Given the description of an element on the screen output the (x, y) to click on. 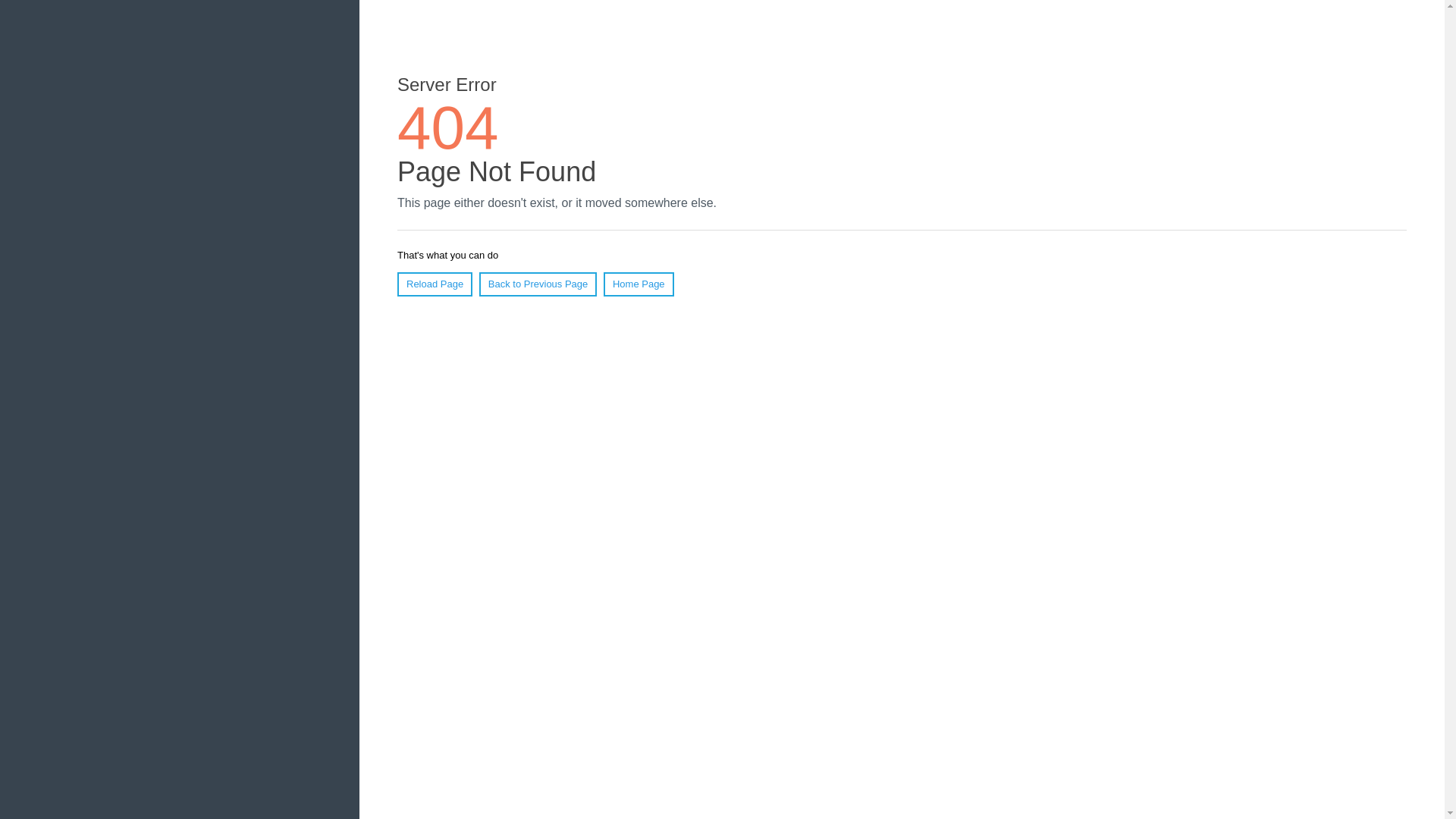
Home Page Element type: text (638, 284)
Back to Previous Page Element type: text (538, 284)
Reload Page Element type: text (434, 284)
